Given the description of an element on the screen output the (x, y) to click on. 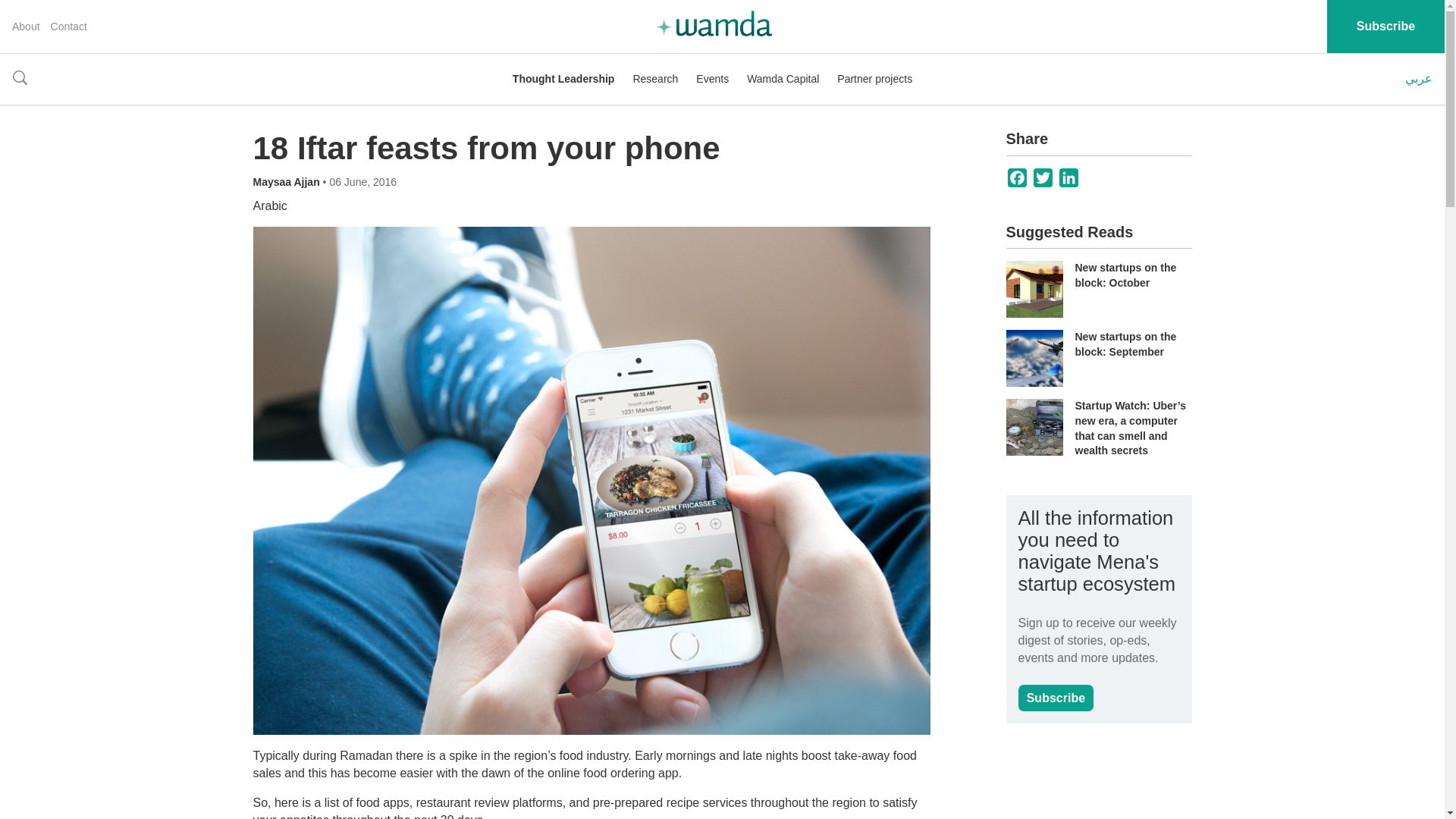
Research (654, 79)
Maysaa Ajjan (288, 182)
Partner projects (874, 79)
Thought Leadership (563, 79)
Arabic (269, 205)
Contact (68, 26)
About (25, 26)
Wamda Capital (782, 79)
